Given the description of an element on the screen output the (x, y) to click on. 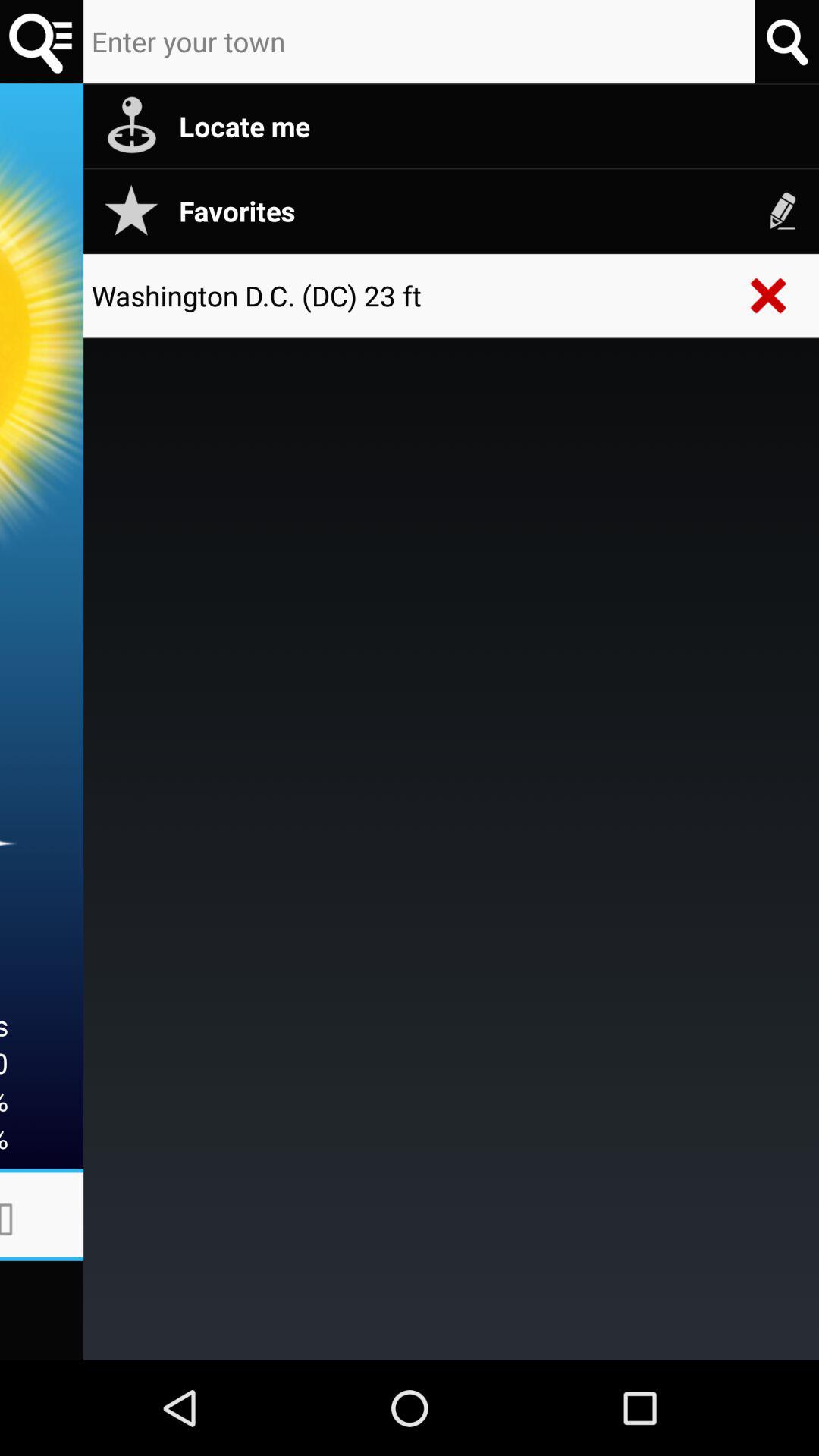
press the icon next to the washington d c app (768, 295)
